Given the description of an element on the screen output the (x, y) to click on. 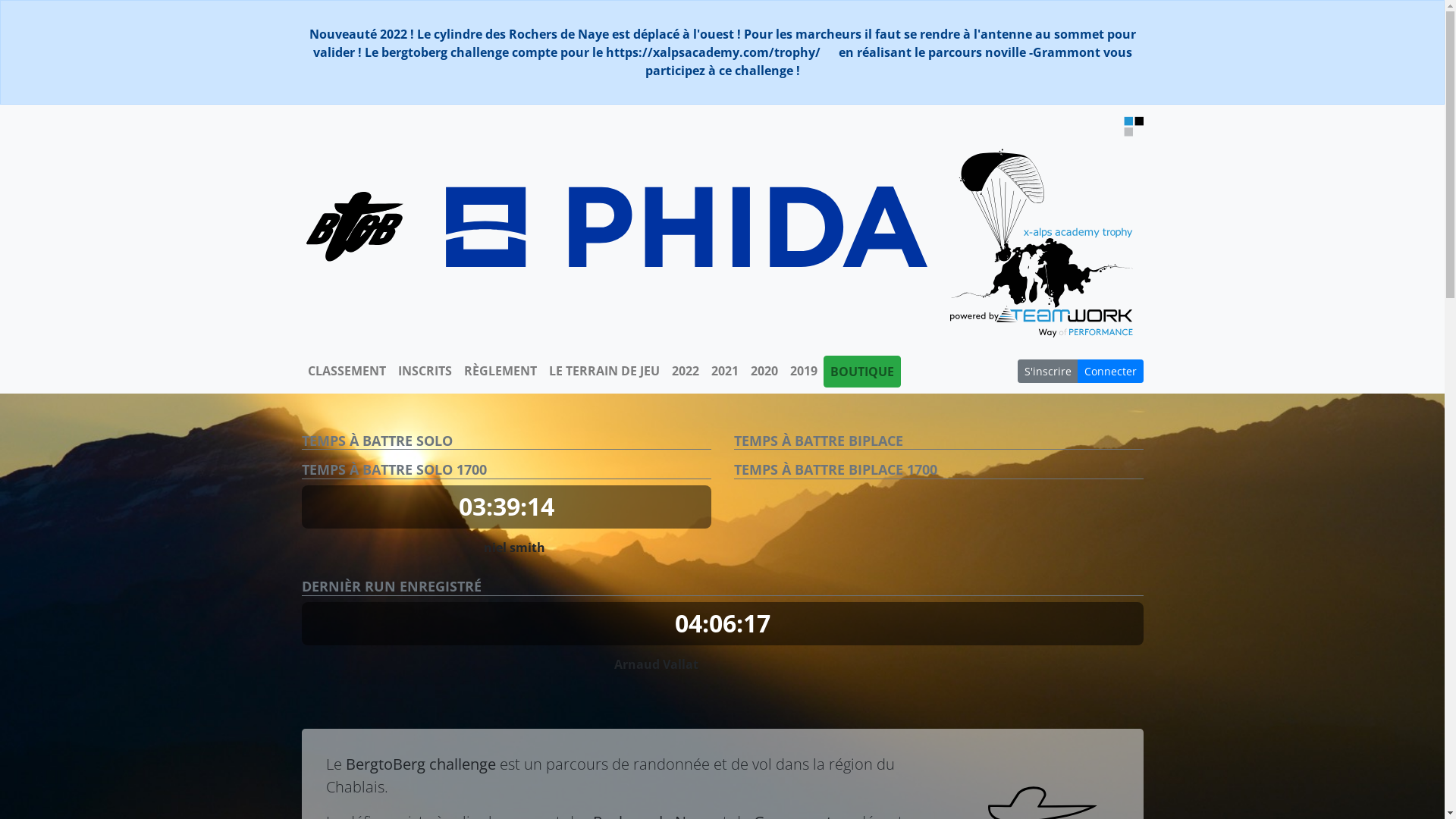
2022 Element type: text (685, 370)
S'inscrire Element type: text (1047, 370)
BOUTIQUE Element type: text (861, 371)
Connecter Element type: text (1109, 370)
2021 Element type: text (724, 370)
INSCRITS Element type: text (424, 370)
2019 Element type: text (803, 370)
LE TERRAIN DE JEU Element type: text (603, 370)
2020 Element type: text (764, 370)
CLASSEMENT Element type: text (346, 370)
